Given the description of an element on the screen output the (x, y) to click on. 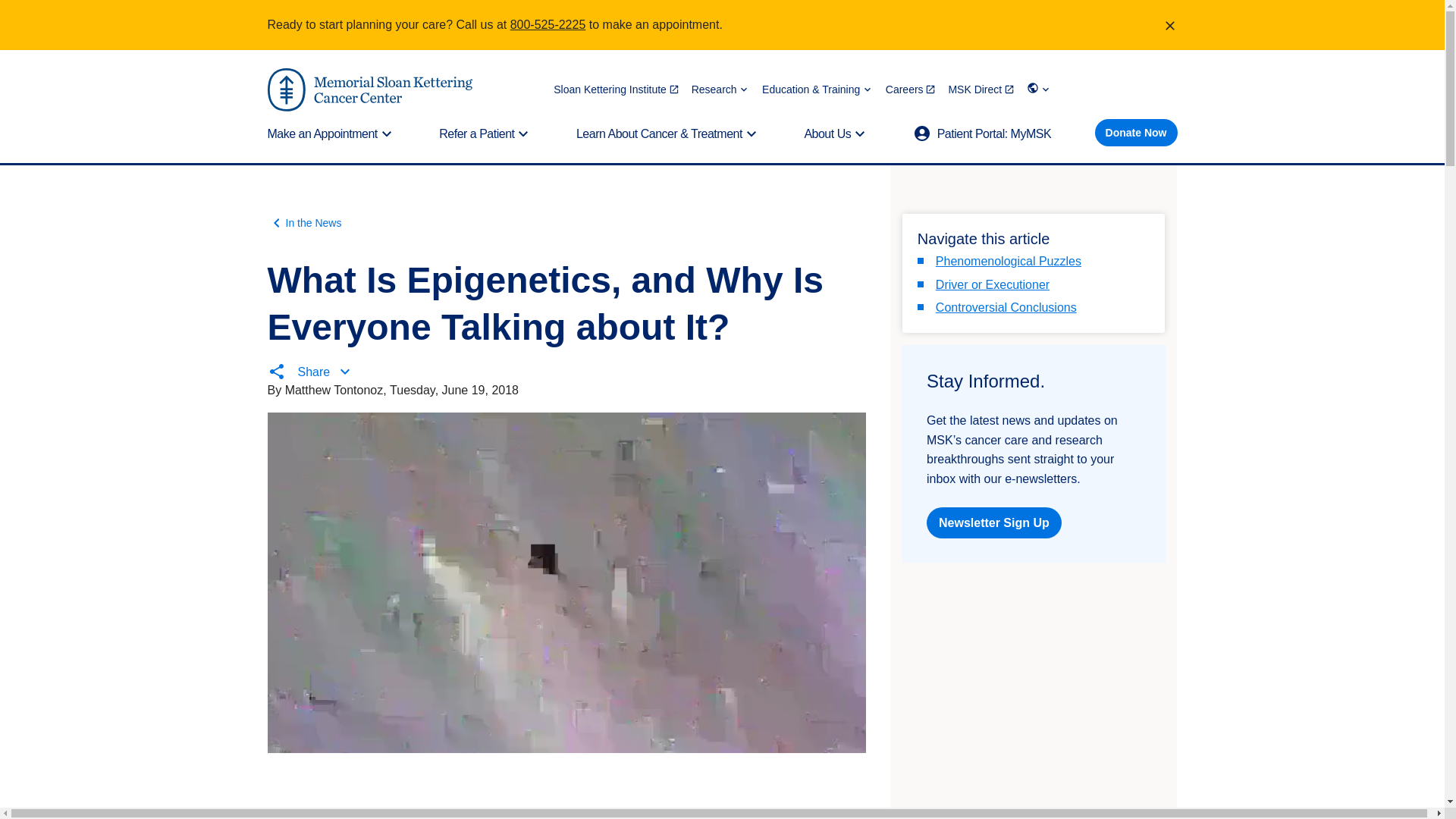
Sloan Kettering Institute (615, 89)
Newsletter Sign Up (993, 522)
MSK Direct (980, 89)
Careers (910, 89)
Research (720, 89)
Donate Now (1135, 132)
800-525-2225 (548, 24)
